Given the description of an element on the screen output the (x, y) to click on. 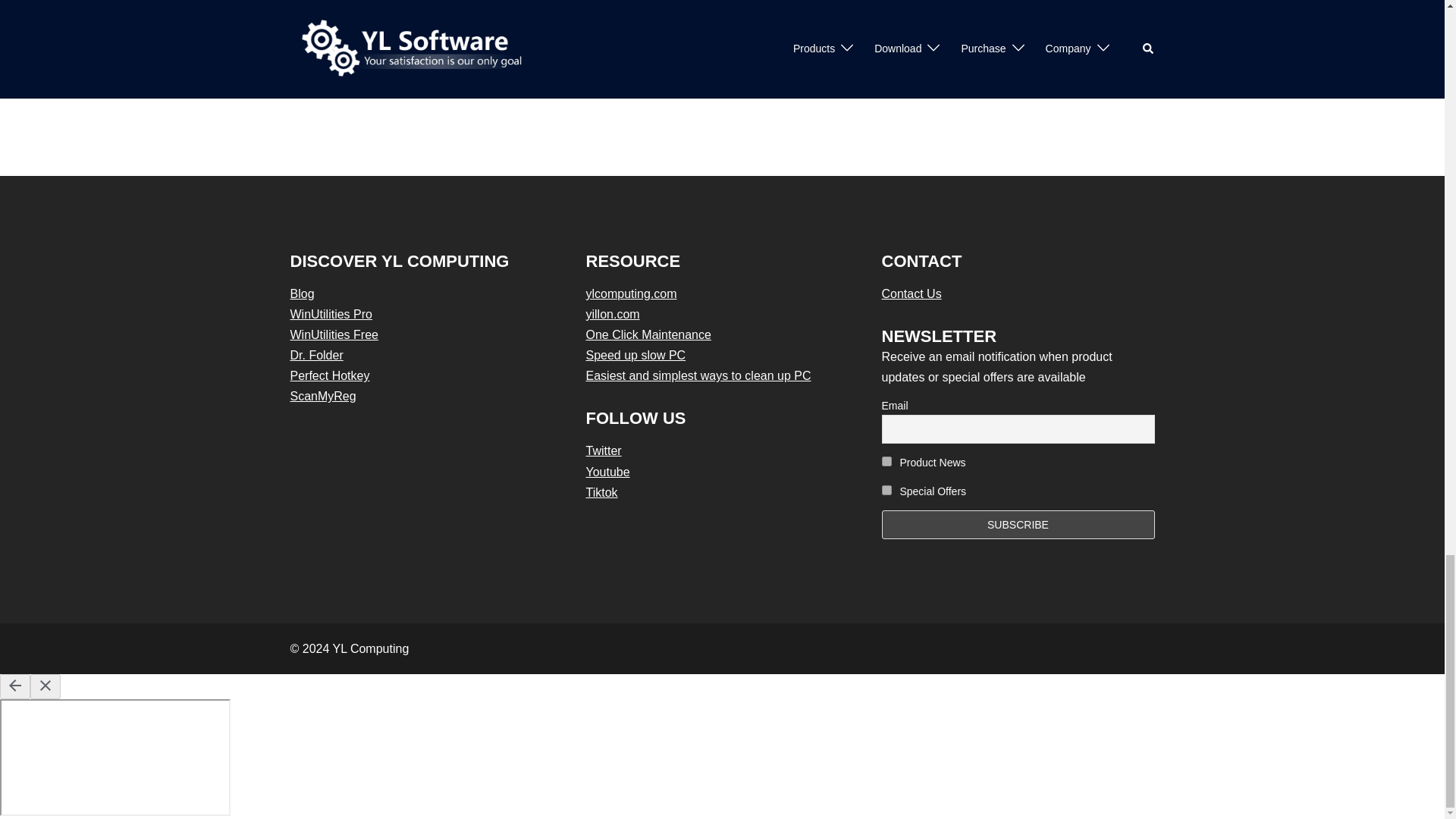
2 (885, 490)
Subscribe (1017, 523)
1 (885, 461)
